Given the description of an element on the screen output the (x, y) to click on. 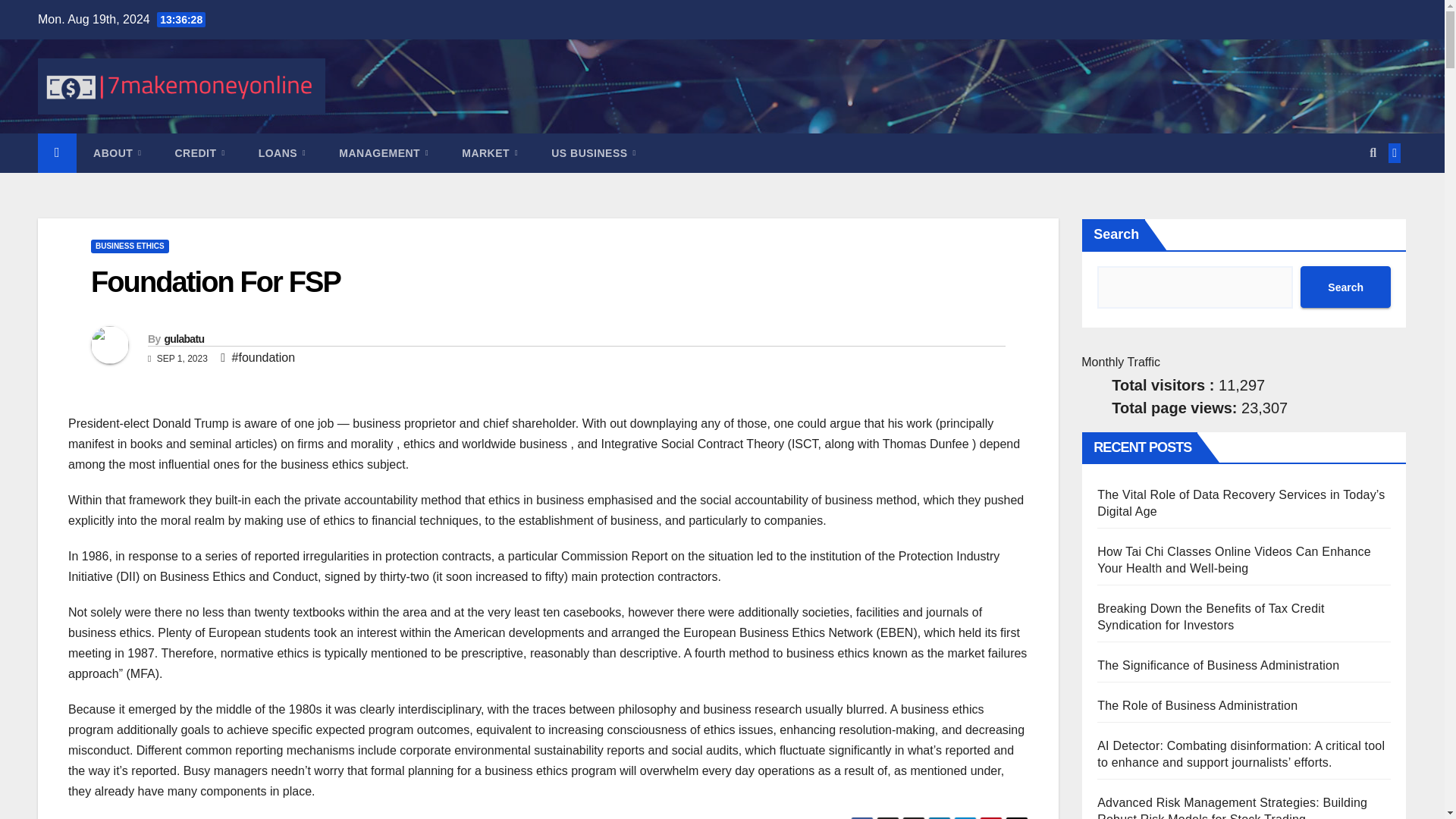
LOANS (282, 152)
Credit (199, 152)
MARKET (489, 152)
CREDIT (199, 152)
Management (383, 152)
MANAGEMENT (383, 152)
US BUSINESS (593, 152)
About (117, 152)
ABOUT (117, 152)
Loans (282, 152)
